Given the description of an element on the screen output the (x, y) to click on. 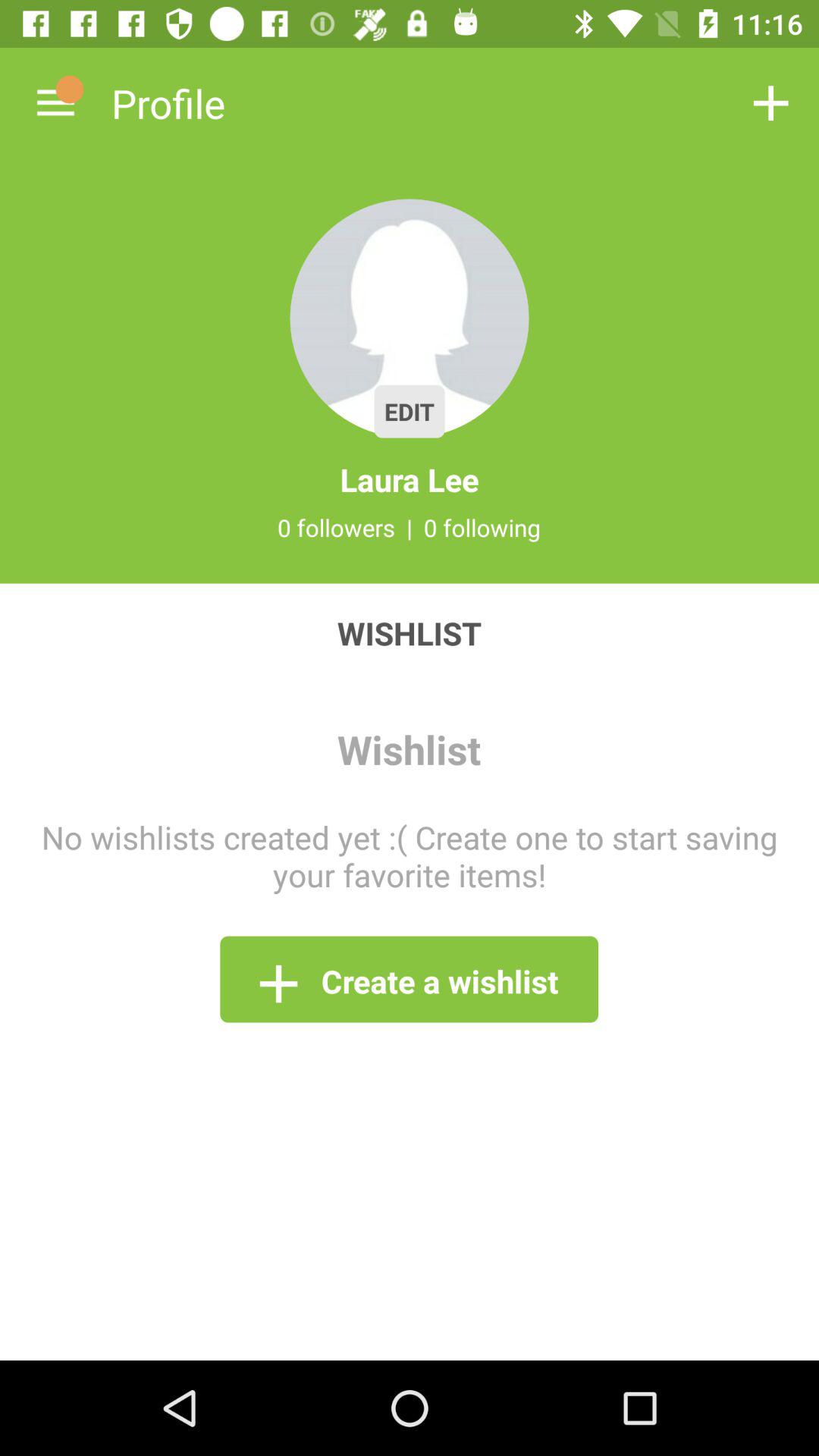
flip to 0 following (481, 527)
